Given the description of an element on the screen output the (x, y) to click on. 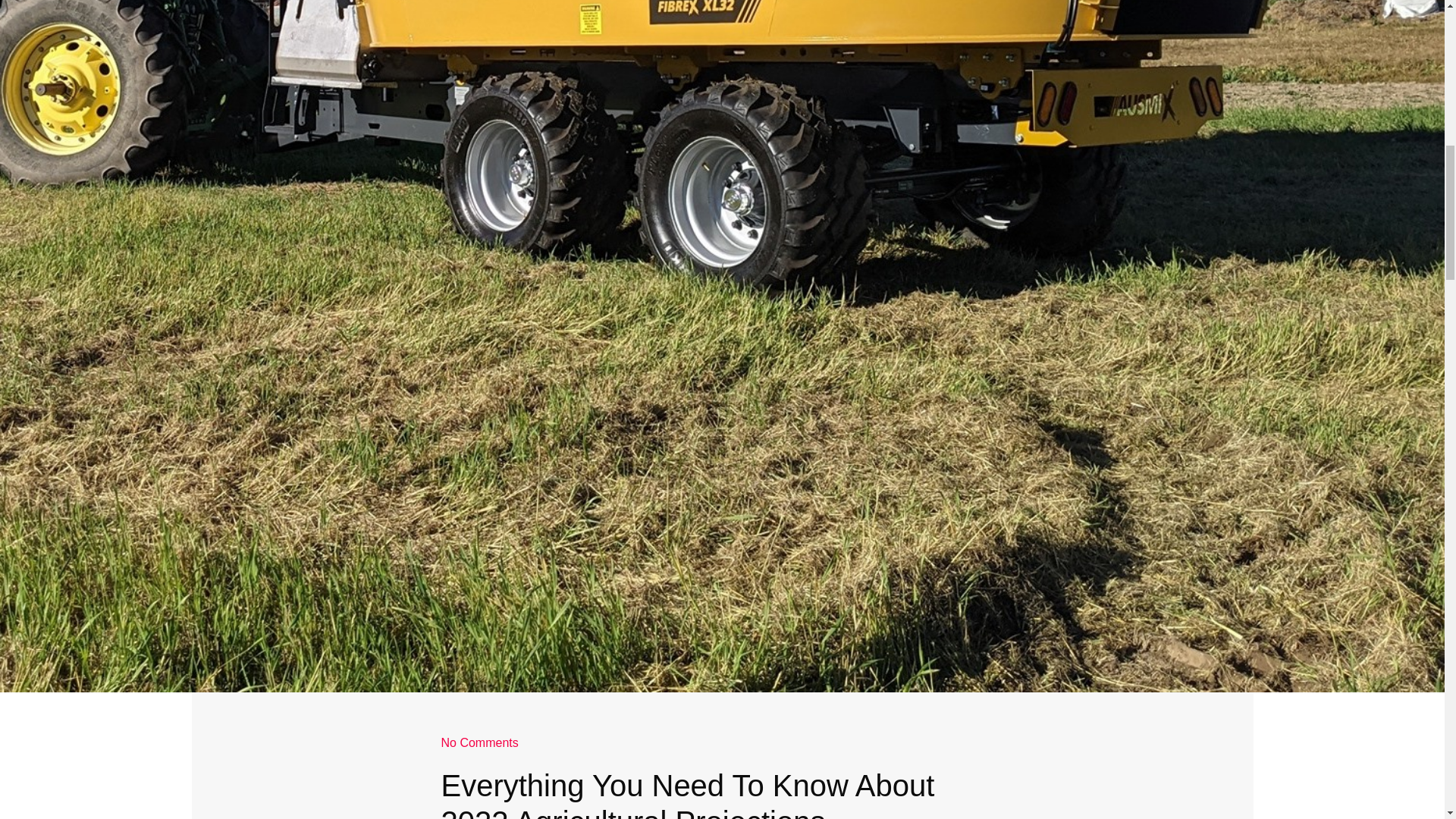
No Comments (479, 742)
